Given the description of an element on the screen output the (x, y) to click on. 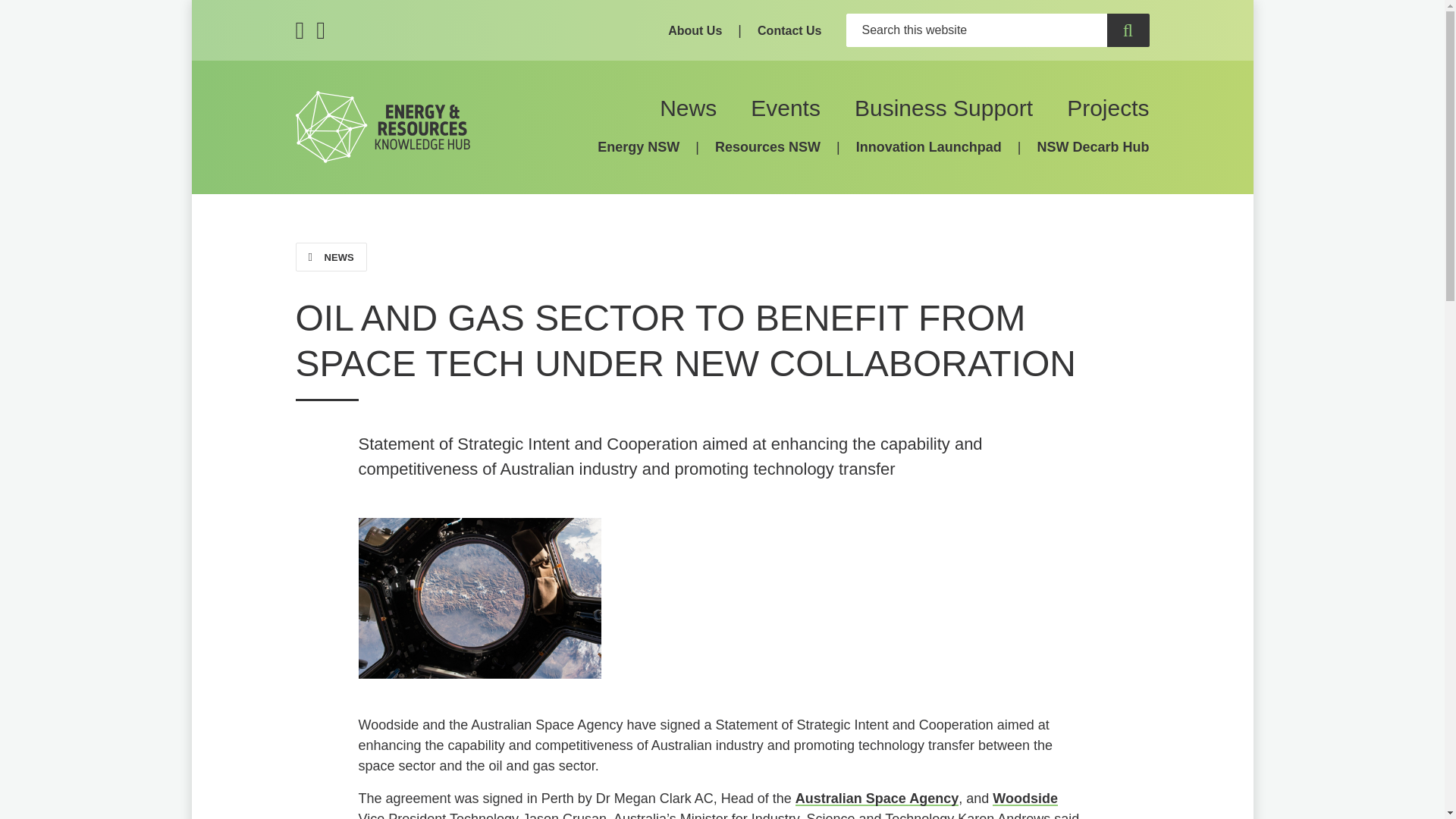
Contact Us (789, 30)
Resources NSW (767, 146)
Energy NSW (637, 146)
News (687, 108)
NSW Decarb Hub (1092, 146)
NEWS (330, 256)
Projects (1107, 108)
Innovation Launchpad (928, 146)
Events (786, 108)
Woodside (1025, 797)
About Us (695, 30)
Business Support (943, 108)
Australian Space Agency (876, 797)
